Given the description of an element on the screen output the (x, y) to click on. 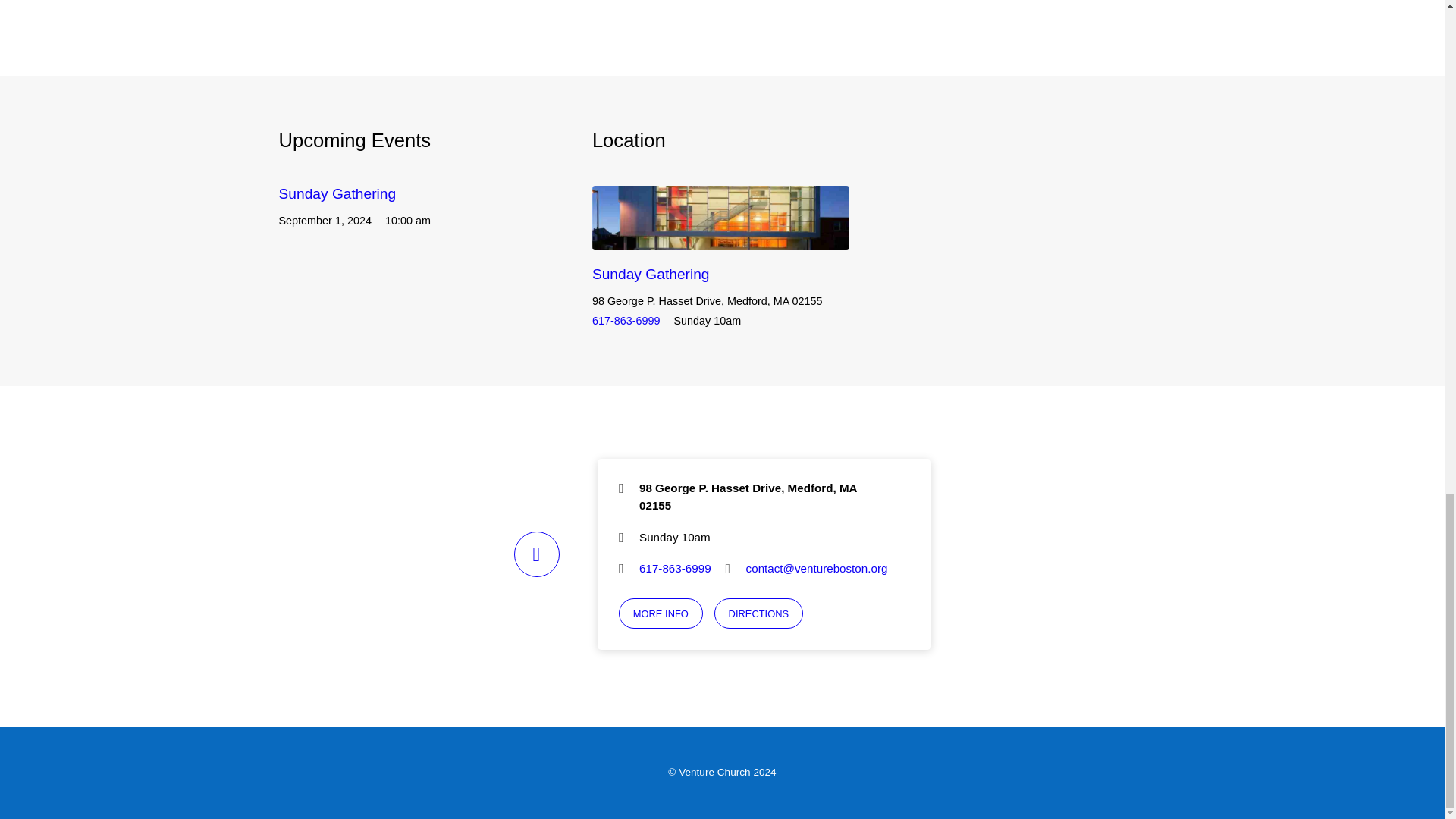
617-863-6999 (626, 320)
Sunday Gathering (720, 237)
Sunday Gathering 1 Sunday Gathering (720, 217)
MORE INFO (660, 613)
Sunday Gathering (337, 193)
Sunday Gathering (337, 193)
DIRECTIONS (758, 613)
617-863-6999 (675, 567)
Sunday Gathering (651, 273)
Sunday Gathering (651, 273)
